Given the description of an element on the screen output the (x, y) to click on. 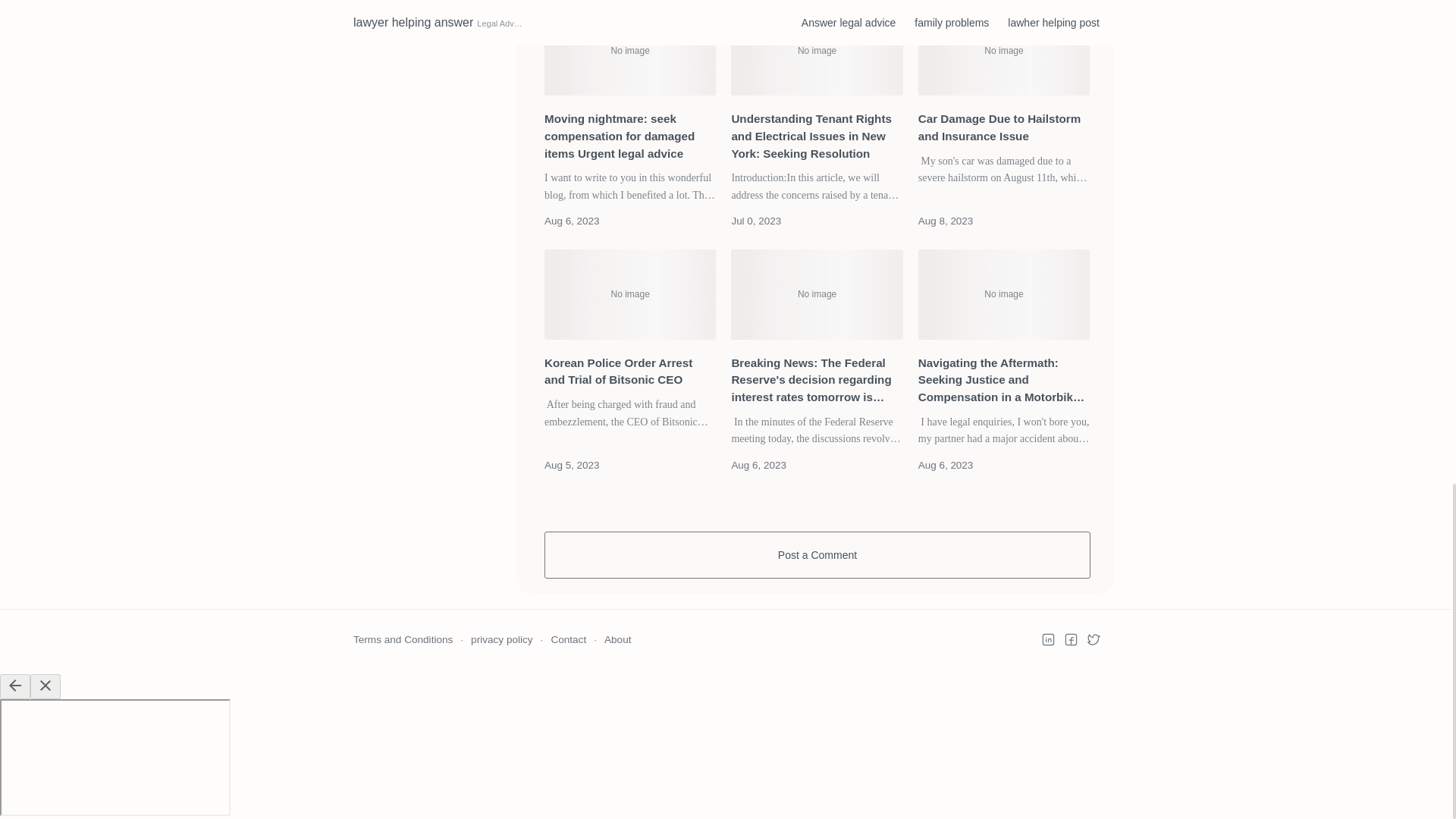
Korean Police Order Arrest and Trial of Bitsonic CEO (630, 371)
About (617, 639)
privacy policy (501, 639)
Car Damage Due to Hailstorm and Insurance Issue (1003, 127)
Car Damage Due to Hailstorm and Insurance Issue (1003, 49)
